Given the description of an element on the screen output the (x, y) to click on. 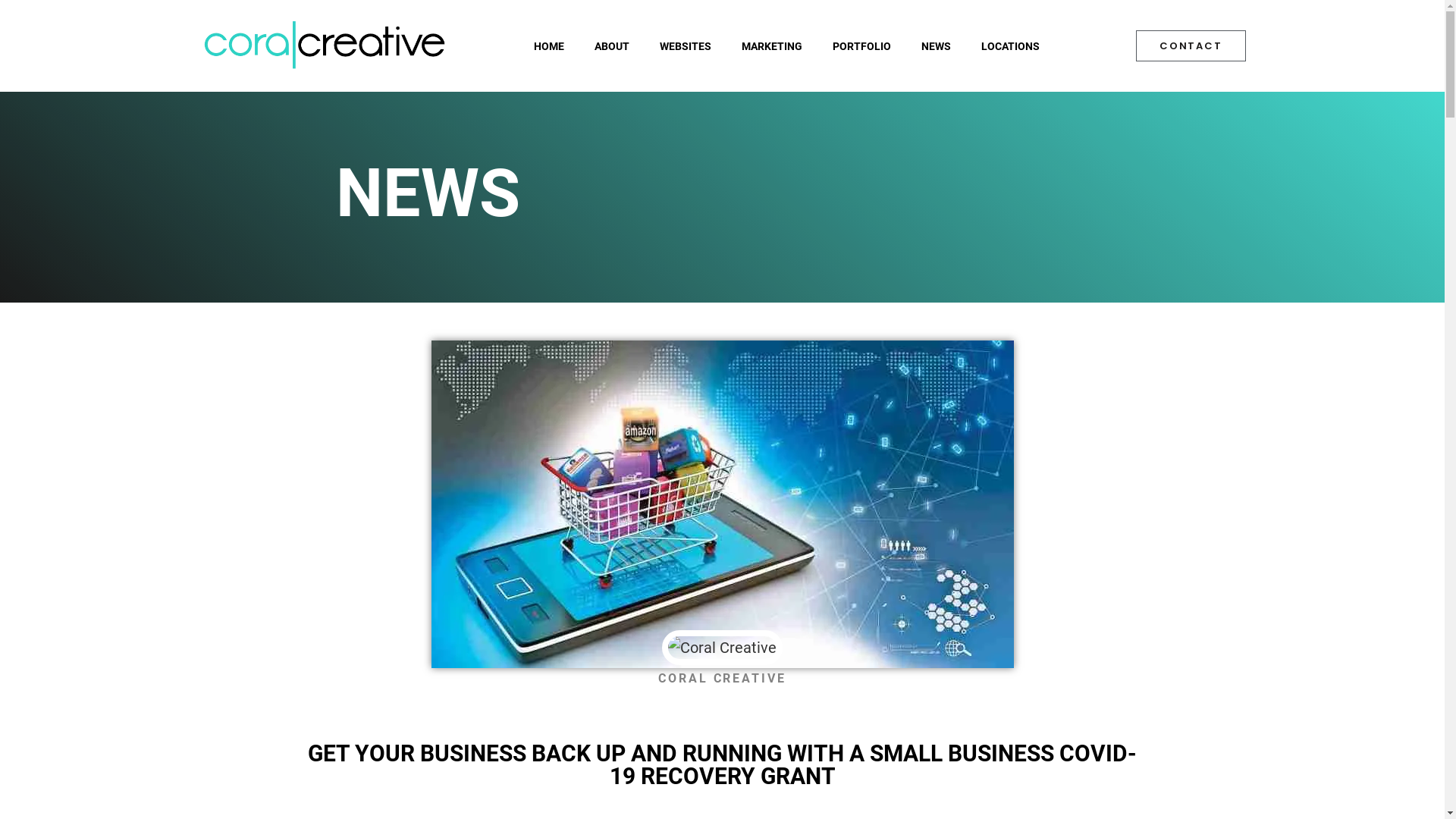
CONTACT Element type: text (1190, 45)
PORTFOLIO Element type: text (861, 45)
MARKETING Element type: text (771, 45)
WEBSITES Element type: text (685, 45)
LOCATIONS Element type: text (1010, 45)
HOME Element type: text (548, 45)
NEWS Element type: text (936, 45)
ABOUT Element type: text (611, 45)
